Given the description of an element on the screen output the (x, y) to click on. 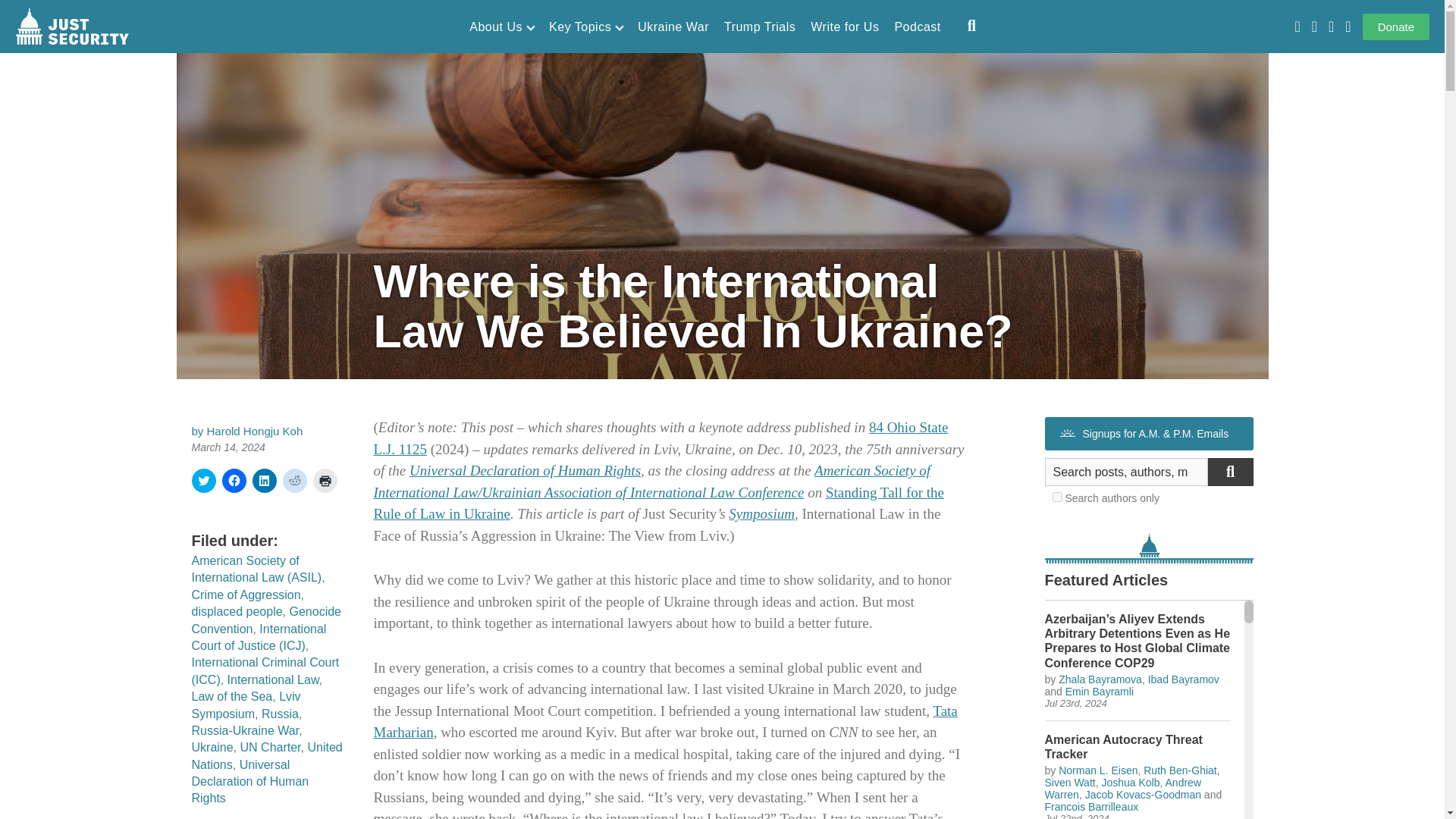
Click to share on Reddit (293, 480)
Write for Us (844, 27)
Click to print (324, 480)
Key Topics (585, 27)
Ukraine War (673, 27)
Profile and articles by Harold Hongju Koh (254, 431)
Click to share on LinkedIn (263, 480)
Click to share on Facebook (233, 480)
Trump Trials (758, 27)
About Us (501, 27)
Donate (1395, 26)
Click to share on Twitter (202, 480)
on (1057, 497)
Podcast (916, 27)
